Given the description of an element on the screen output the (x, y) to click on. 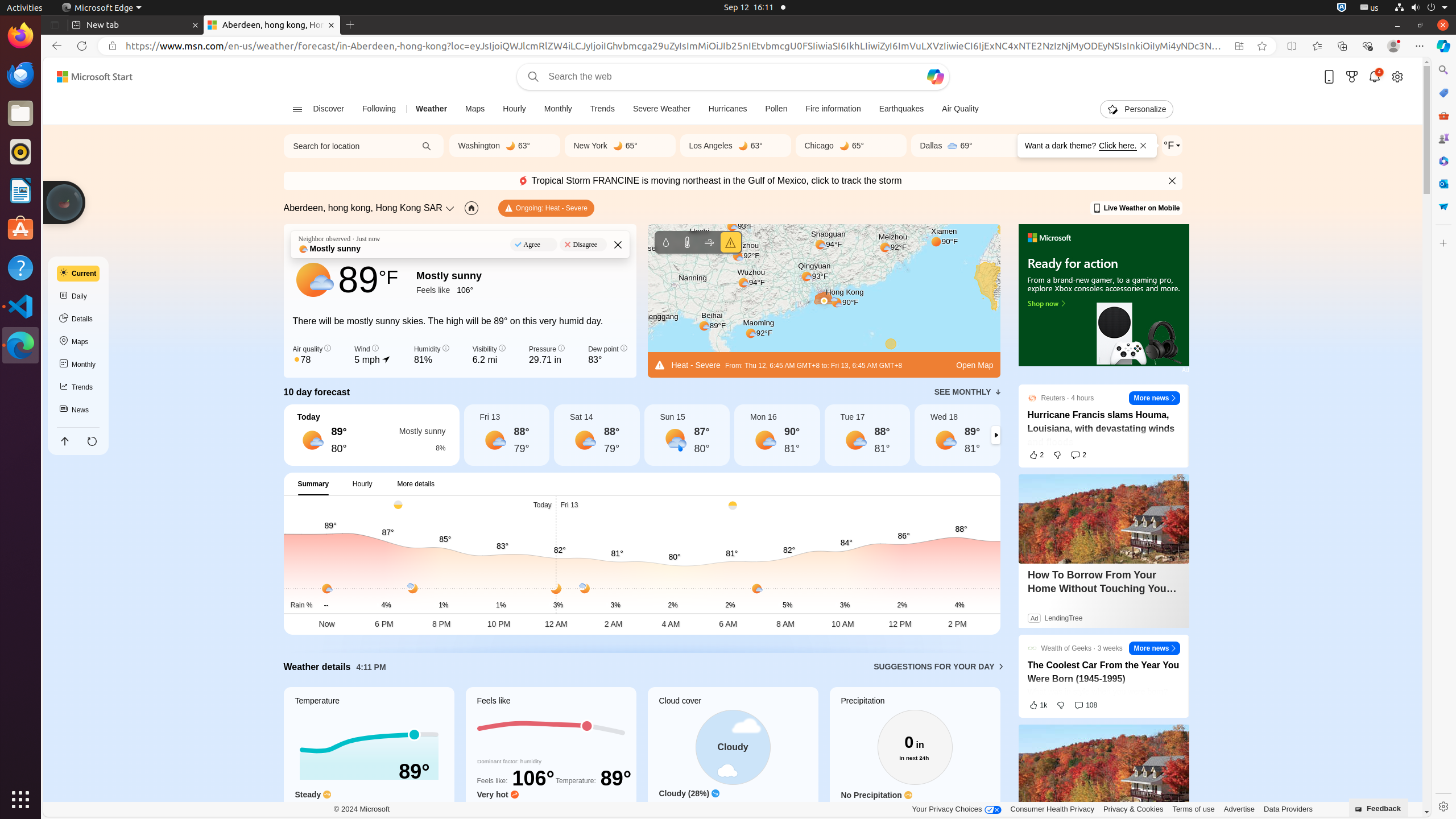
Daily Element type: push-button (78, 296)
Data Providers Element type: link (1287, 808)
Refresh Element type: push-button (81, 45)
Your Privacy Choices Element type: link (956, 808)
Games Element type: push-button (1443, 137)
